Given the description of an element on the screen output the (x, y) to click on. 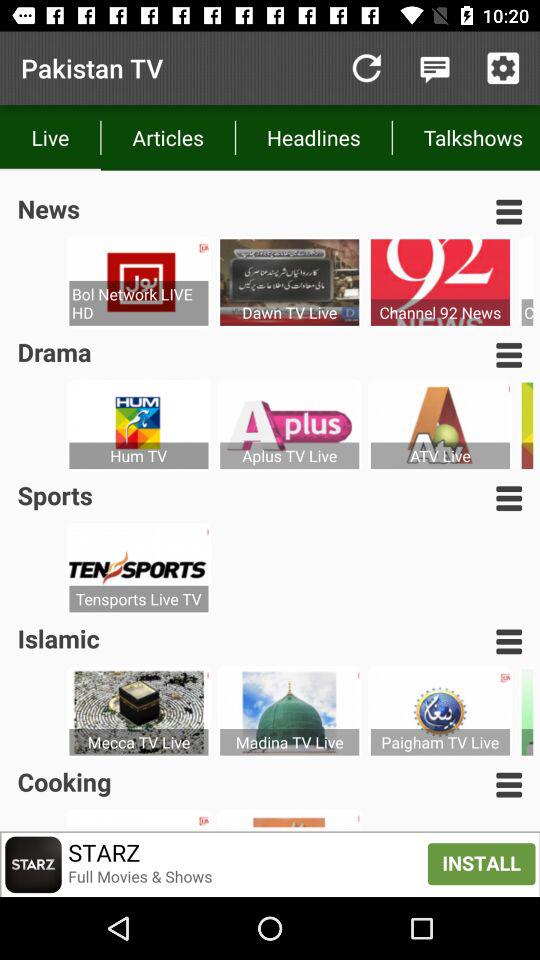
open new menu (509, 211)
